Given the description of an element on the screen output the (x, y) to click on. 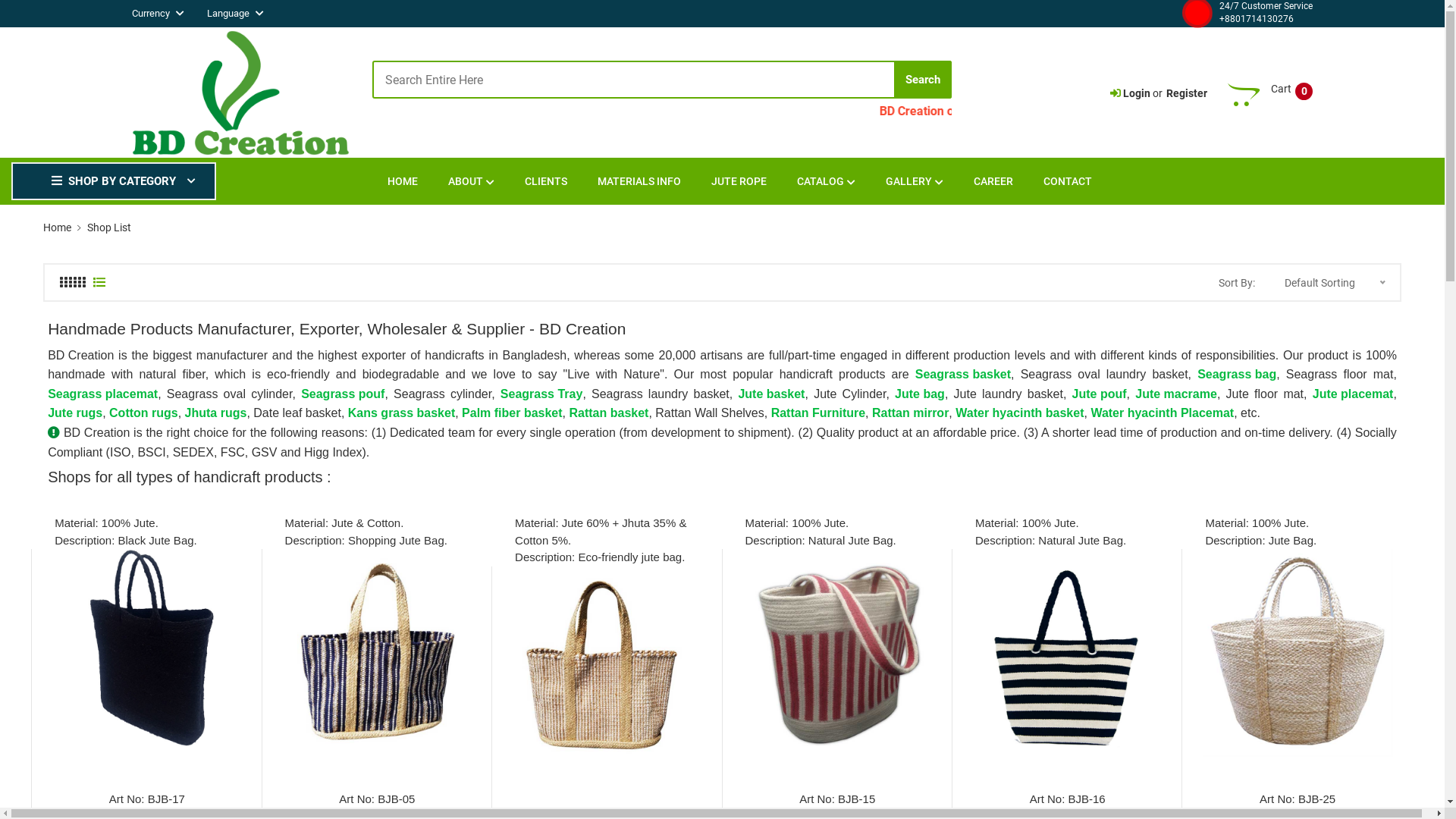
Material: 100% Jute. Element type: text (106, 523)
Seagrass placemat Element type: text (102, 394)
Seagrass bag Element type: text (1236, 374)
HOME Element type: text (402, 181)
Jute basket Element type: text (770, 394)
Jhuta rugs Element type: text (216, 413)
Description: Eco-friendly jute bag. Element type: text (599, 557)
Seagrass Tray Element type: text (541, 394)
Home Element type: text (57, 227)
CAREER Element type: text (993, 181)
Rattan Furniture Element type: text (818, 413)
Search Element type: text (922, 79)
BD Creation Element type: text (80, 355)
Seagrass pouf Element type: text (342, 394)
Description: Natural Jute Bag. Element type: text (819, 540)
Material: 100% Jute. Element type: text (1256, 523)
Water hyacinth basket Element type: text (1019, 413)
CLIENTS Element type: text (545, 181)
SHOP BY CATEGORY Element type: text (113, 181)
Jute bag Element type: text (919, 394)
Register Element type: text (1186, 93)
Material: 100% Jute. Element type: text (796, 523)
Login Element type: text (1136, 93)
Material: Jute 60% + Jhuta 35% & Cotton 5%. Element type: text (606, 531)
Description: Natural Jute Bag. Element type: text (1050, 540)
CONTACT Element type: text (1067, 181)
Palm fiber basket Element type: text (511, 413)
Seagrass basket Element type: text (962, 374)
MATERIALS INFO Element type: text (638, 181)
CATALOG Element type: text (826, 181)
Description: Black Jute Bag. Element type: text (125, 540)
Rattan basket Element type: text (608, 413)
ABOUT Element type: text (471, 181)
Jute rugs Element type: text (74, 413)
Kans grass basket Element type: text (401, 413)
Description: Shopping Jute Bag. Element type: text (366, 540)
Rattan mirror Element type: text (910, 413)
Description: Jute Bag. Element type: text (1260, 540)
Material: 100% Jute. Element type: text (1027, 523)
GALLERY Element type: text (914, 181)
Water hyacinth Placemat Element type: text (1161, 413)
Cotton rugs Element type: text (143, 413)
Jute pouf Element type: text (1099, 394)
JUTE ROPE Element type: text (738, 181)
Material: Jute & Cotton. Element type: text (344, 523)
Jute macrame Element type: text (1176, 394)
Jute placemat Element type: text (1352, 394)
